Given the description of an element on the screen output the (x, y) to click on. 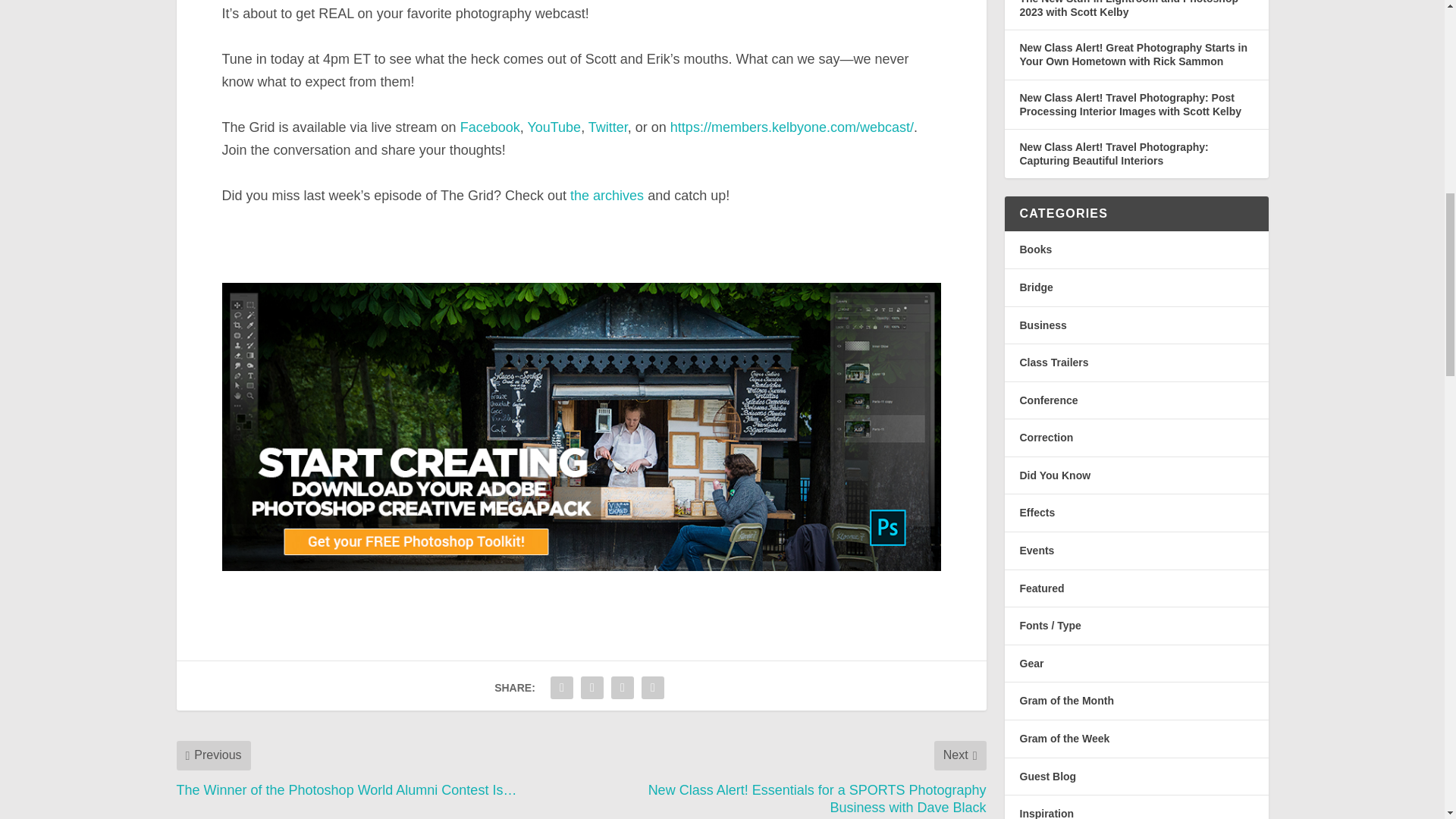
YouTube (553, 127)
Facebook (489, 127)
the archives (606, 195)
Twitter (607, 127)
